Given the description of an element on the screen output the (x, y) to click on. 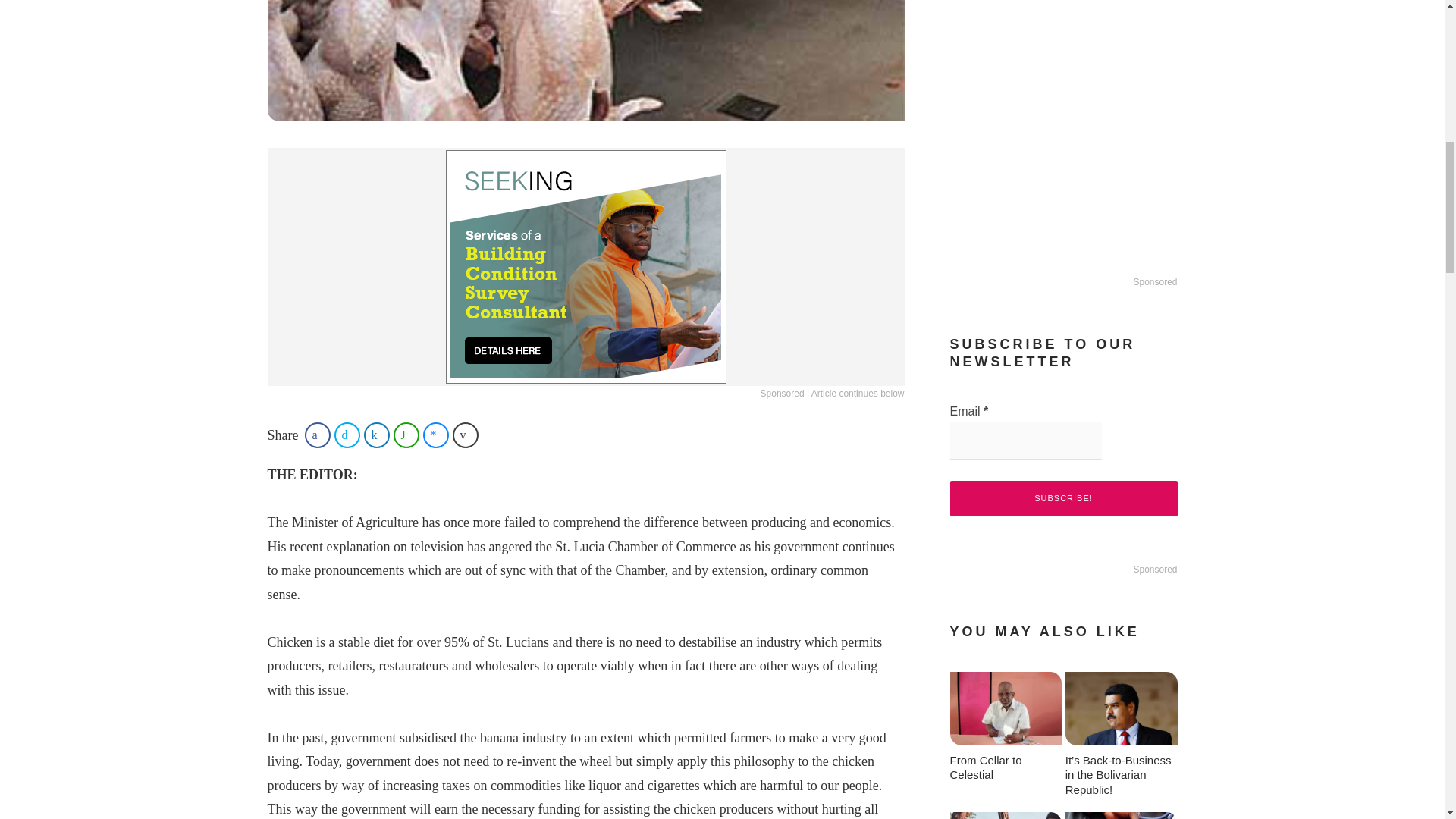
Subscribe! (1062, 498)
Share on Facebook Messenger (435, 434)
Share on WhatsApp (406, 434)
Share on LinkedIn (377, 434)
Share on Email (465, 434)
Share on Facebook (317, 434)
Share on Twitter (346, 434)
